Given the description of an element on the screen output the (x, y) to click on. 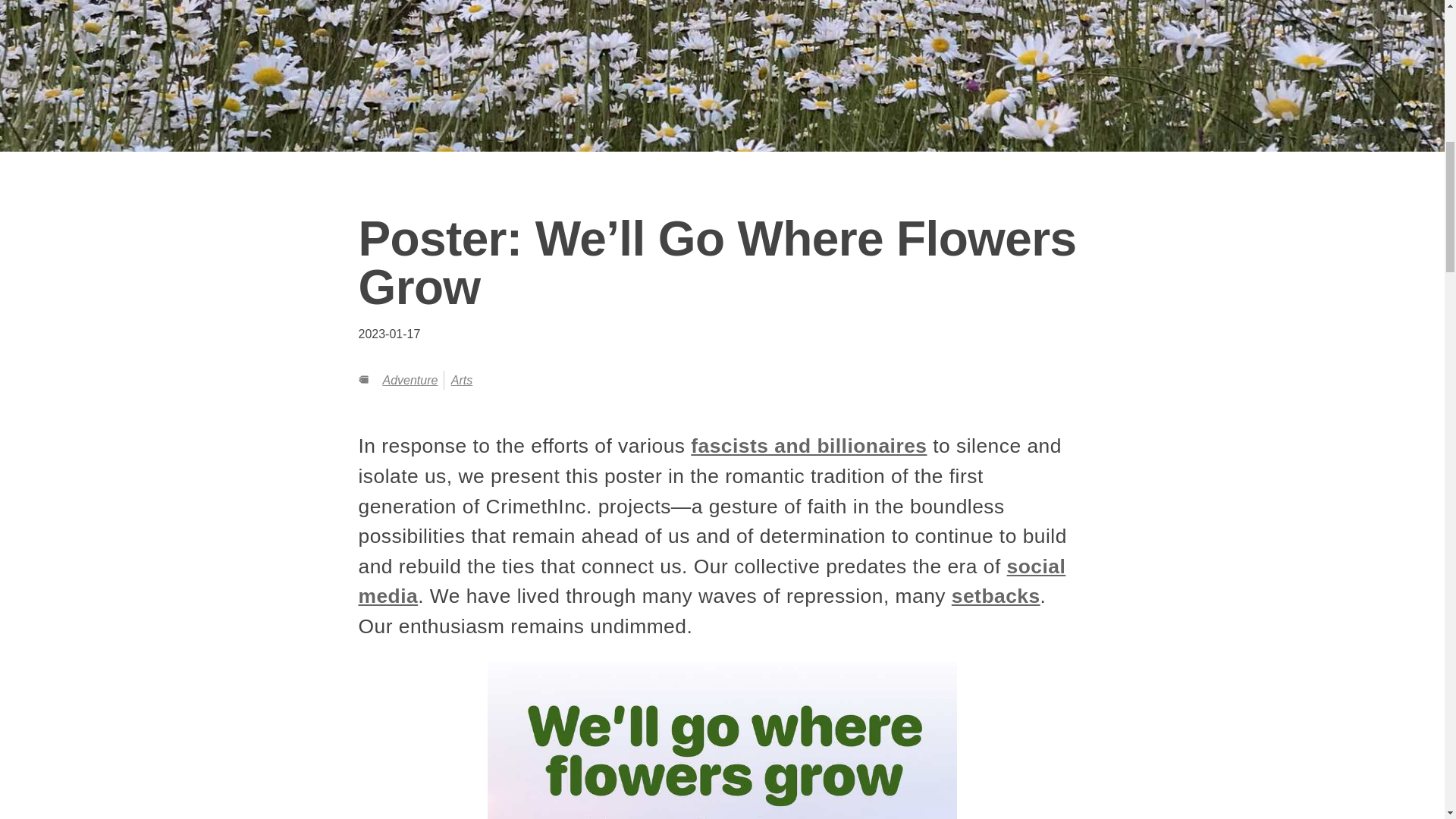
Arts (461, 379)
Adventure (409, 379)
fascists and billionaires (808, 445)
social media (711, 581)
setbacks (996, 595)
